Given the description of an element on the screen output the (x, y) to click on. 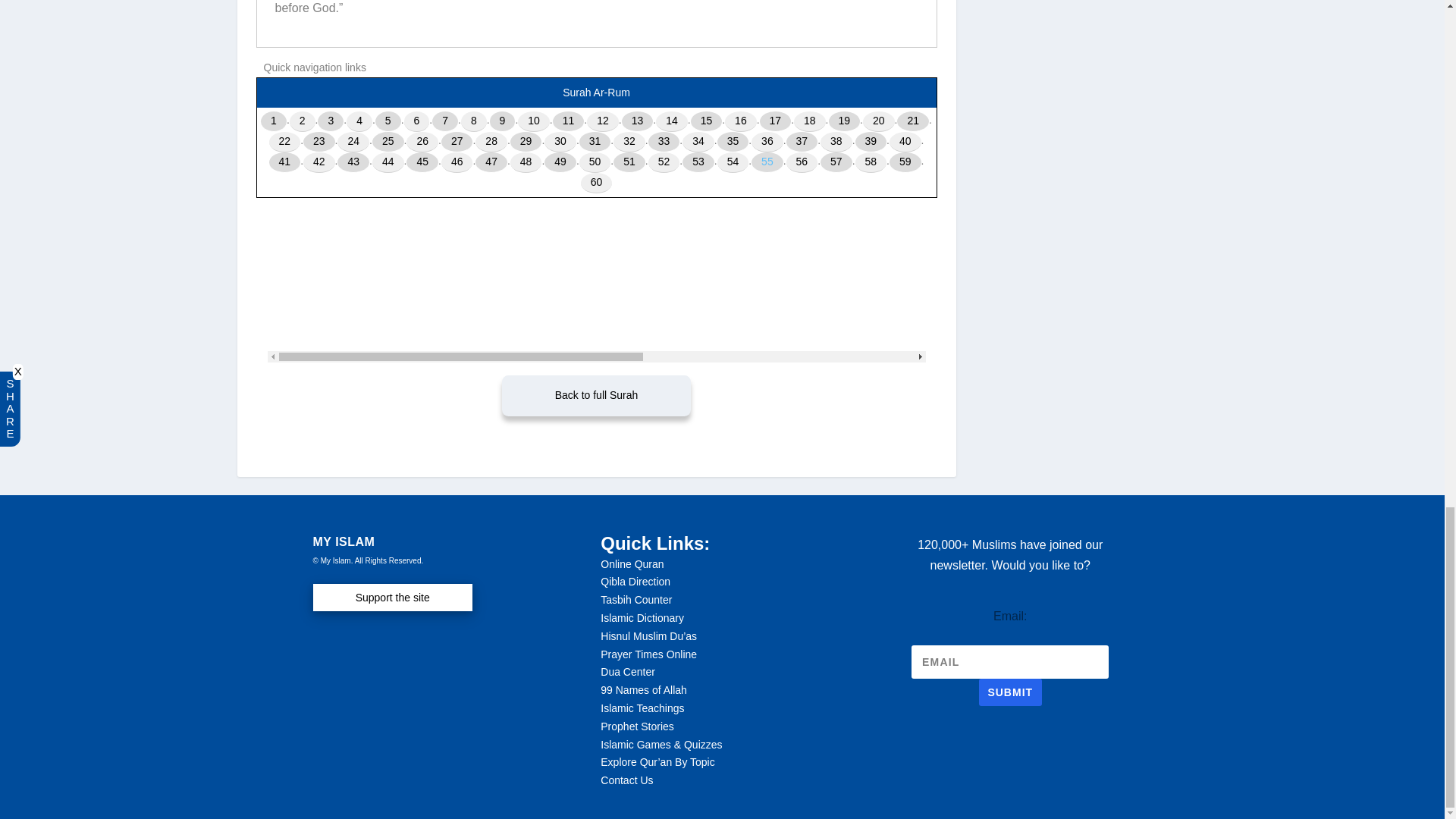
2 (302, 121)
5 (388, 121)
11 (569, 121)
4 (359, 121)
3 (330, 121)
12 (602, 121)
6 (416, 121)
8 (473, 121)
7 (445, 121)
1 (273, 121)
